Given the description of an element on the screen output the (x, y) to click on. 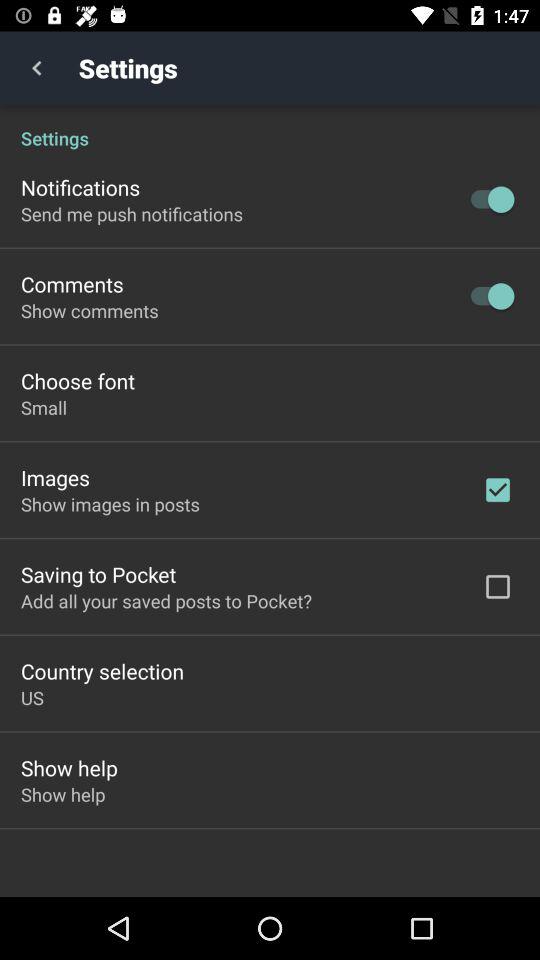
turn on choose font icon (78, 380)
